Given the description of an element on the screen output the (x, y) to click on. 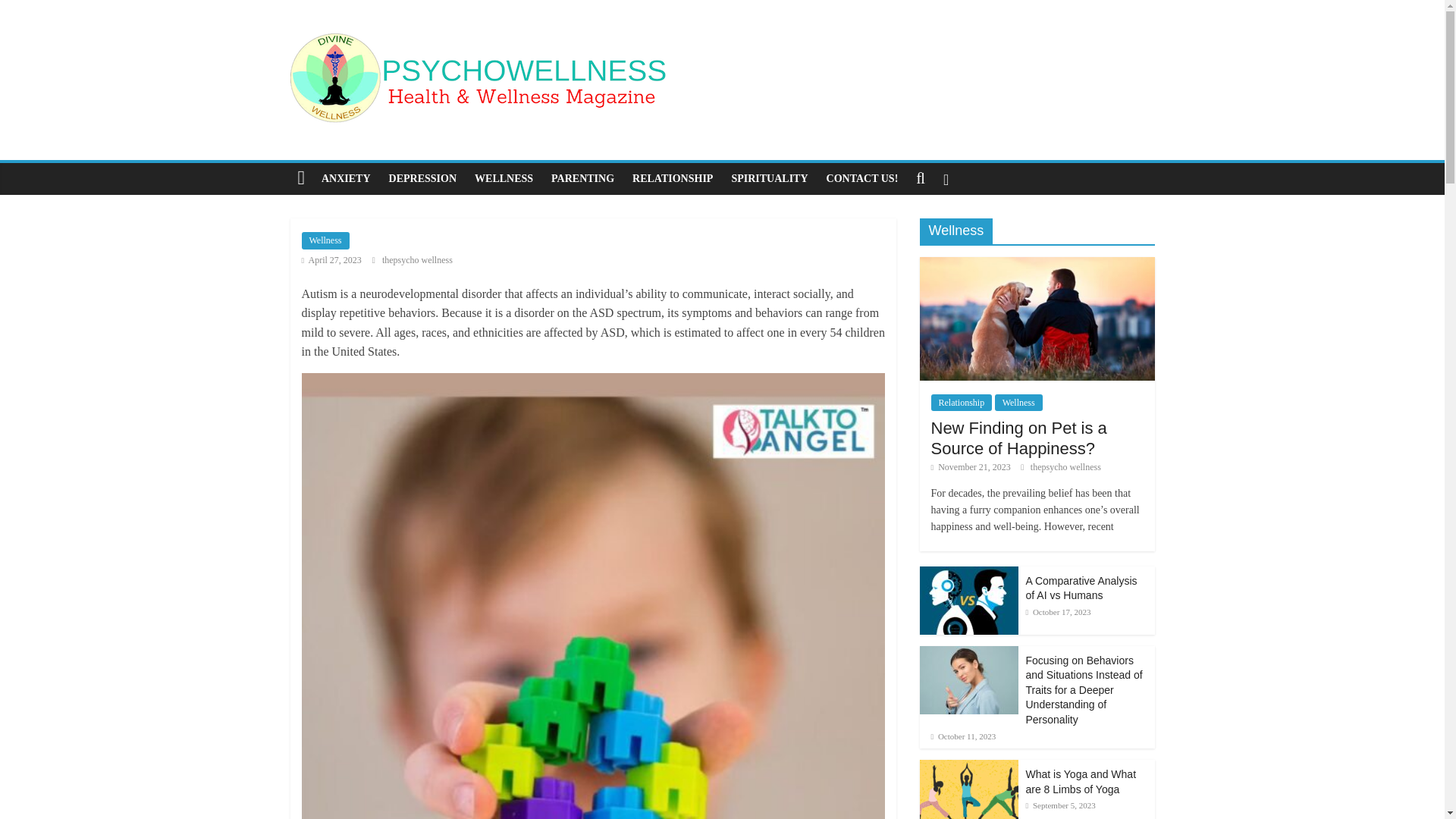
RELATIONSHIP (672, 178)
April 27, 2023 (331, 259)
Wellness (325, 239)
thepsycho wellness (416, 259)
11:37 am (331, 259)
DEPRESSION (422, 178)
PARENTING (582, 178)
thepsycho wellness (416, 259)
WELLNESS (503, 178)
ANXIETY (346, 178)
CONTACT US! (861, 178)
SPIRITUALITY (769, 178)
